Given the description of an element on the screen output the (x, y) to click on. 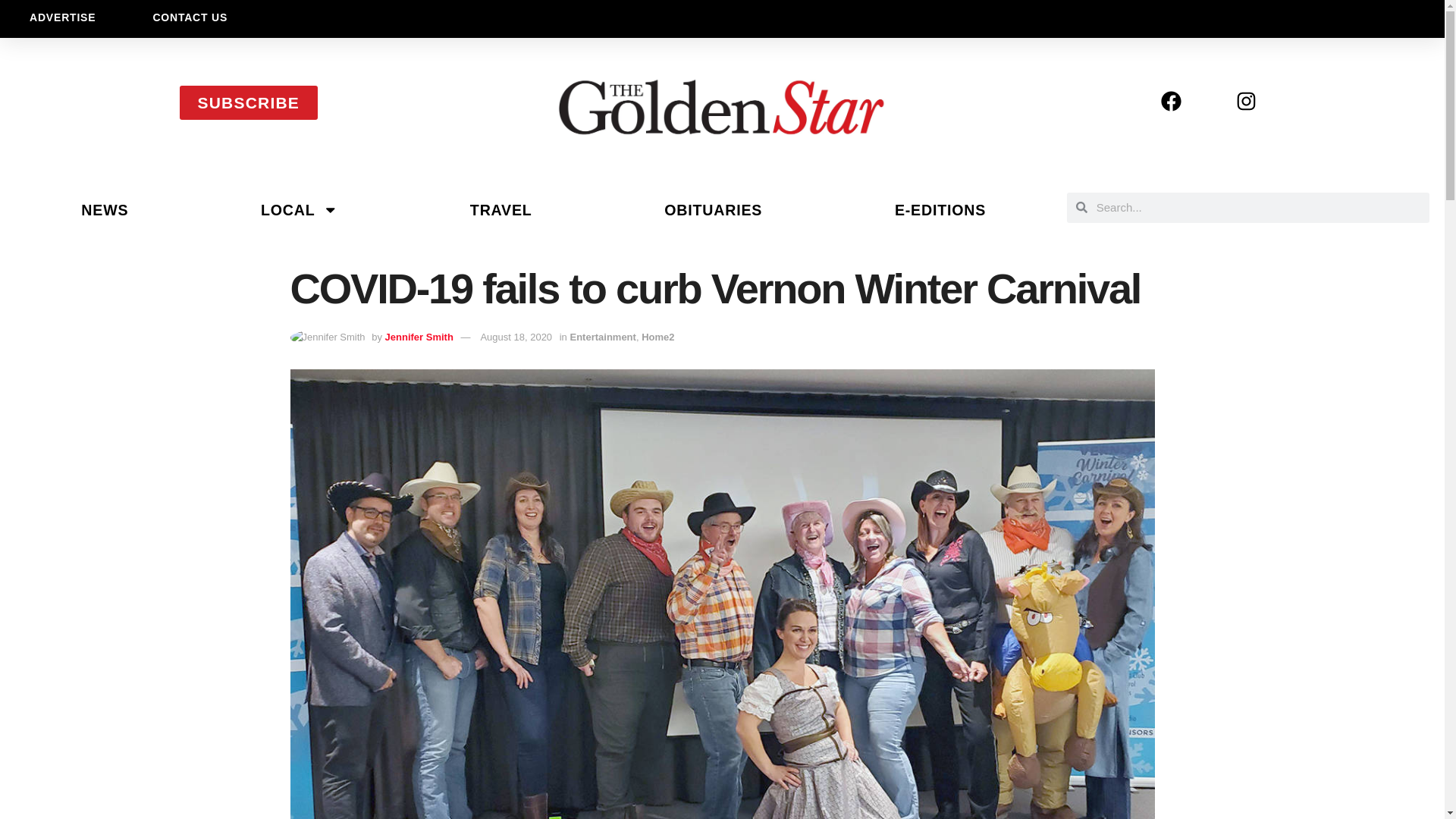
Entertainment (601, 337)
August 18, 2020 (515, 337)
E-EDITIONS (940, 209)
LOCAL (299, 209)
NEWS (104, 209)
TRAVEL (499, 209)
SUBSCRIBE (248, 102)
ADVERTISE (62, 17)
OBITUARIES (713, 209)
Home2 (658, 337)
